Given the description of an element on the screen output the (x, y) to click on. 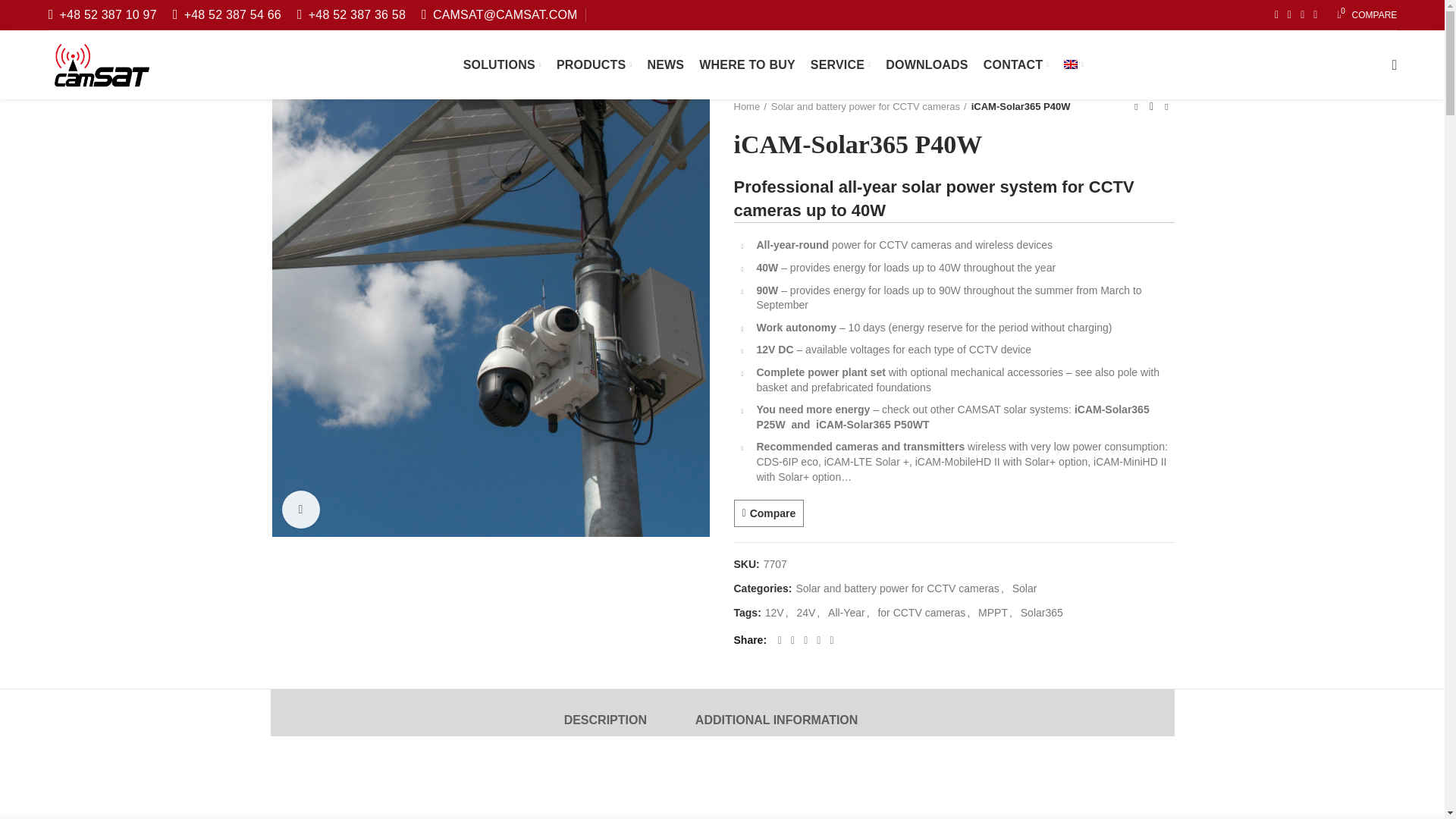
PRODUCTS (1367, 15)
Compare products (594, 64)
SOLUTIONS (1367, 15)
